Given the description of an element on the screen output the (x, y) to click on. 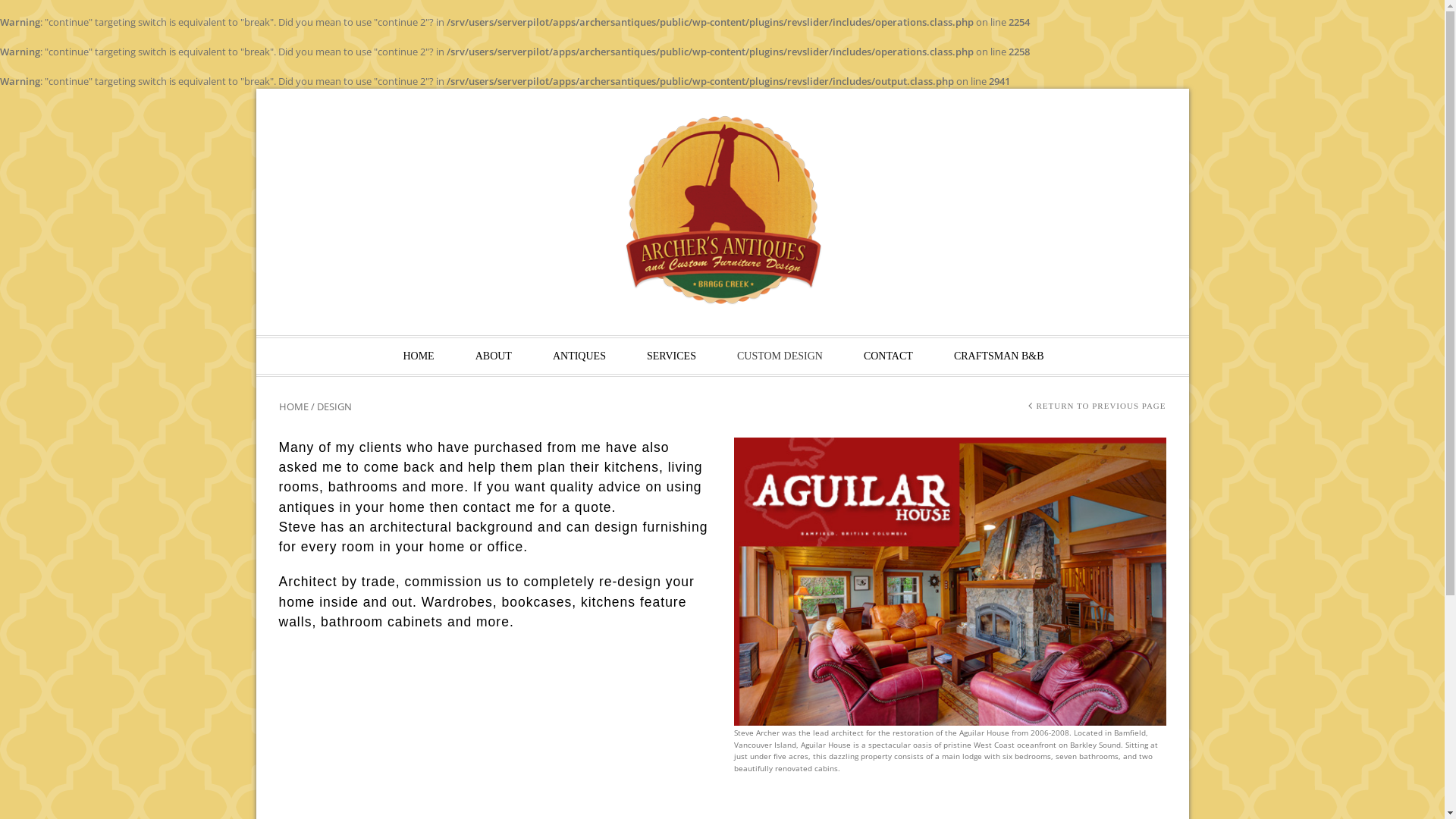
ABOUT Element type: text (493, 355)
HOME Element type: text (417, 355)
RETURN TO PREVIOUS PAGE Element type: text (1100, 405)
CRAFTSMAN B&B Element type: text (999, 355)
ANTIQUES Element type: text (579, 355)
CONTACT Element type: text (887, 355)
CUSTOM DESIGN Element type: text (779, 355)
HOME Element type: text (293, 406)
SERVICES Element type: text (671, 355)
